Given the description of an element on the screen output the (x, y) to click on. 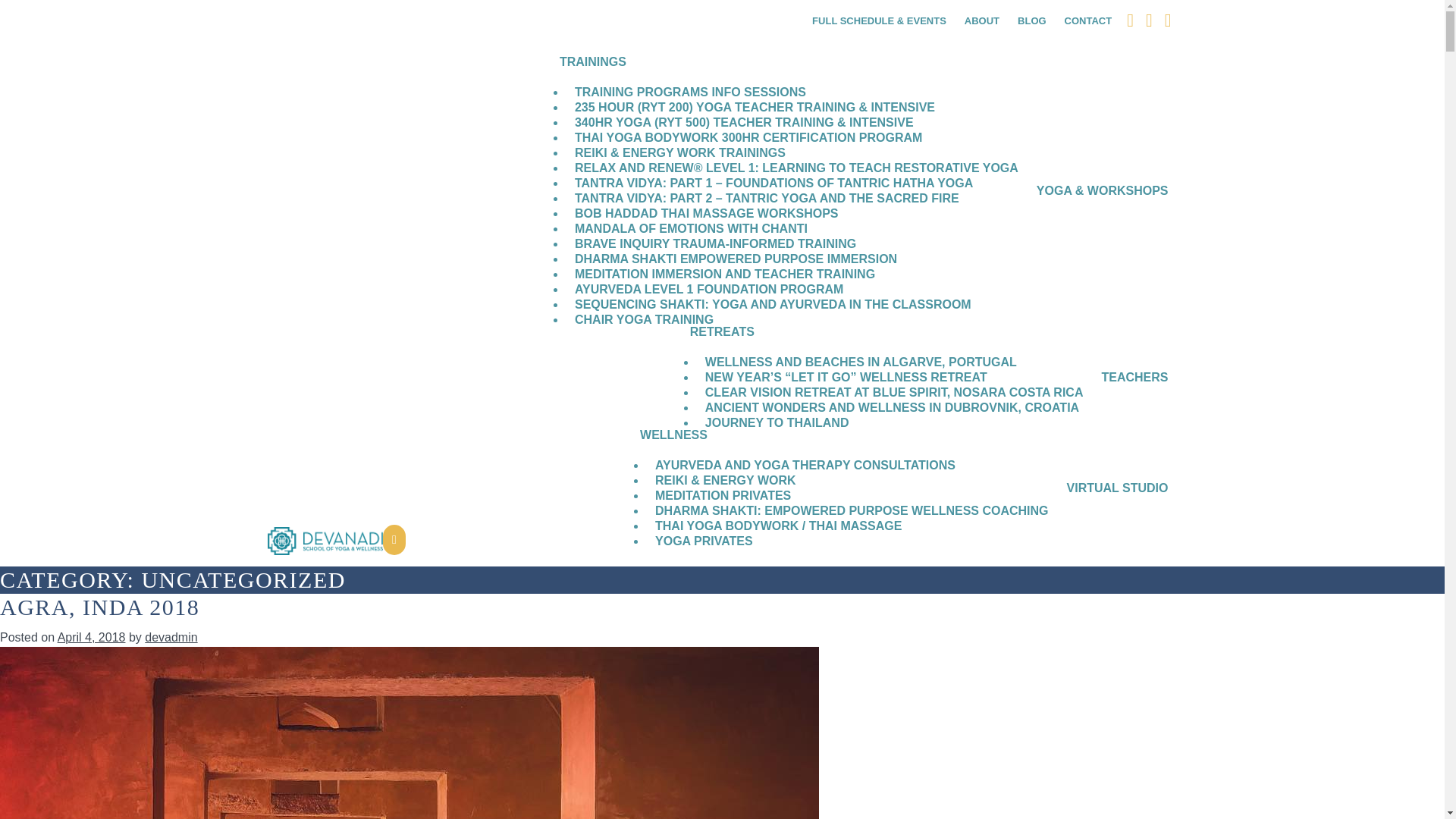
twitter (1149, 20)
facebook (1130, 20)
instagram (1167, 20)
